Given the description of an element on the screen output the (x, y) to click on. 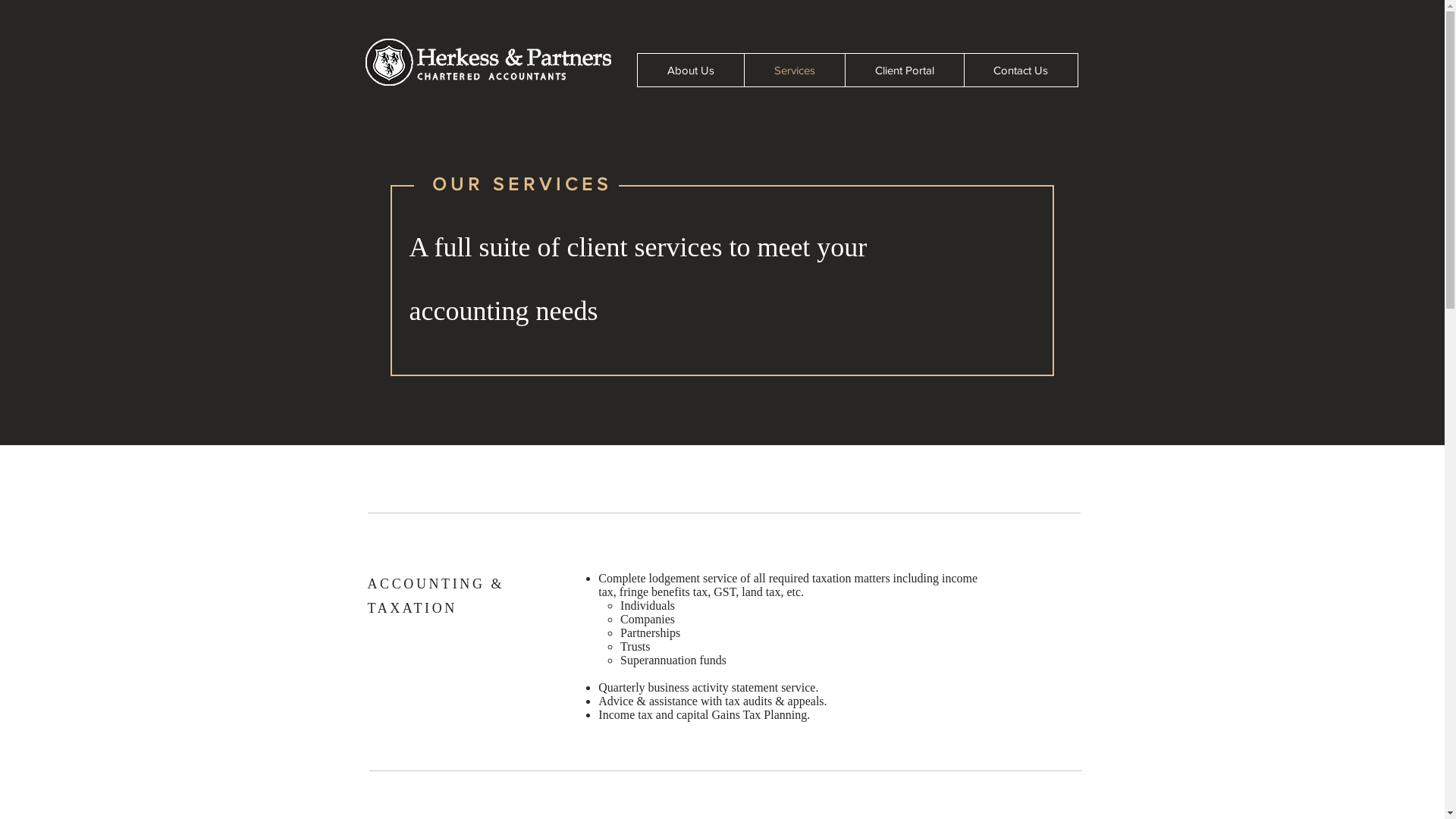
Services Element type: text (793, 69)
About Us Element type: text (690, 69)
Contact Us Element type: text (1019, 69)
Herkess&Partners WH01.png Element type: hover (488, 61)
Client Portal Element type: text (903, 69)
